Given the description of an element on the screen output the (x, y) to click on. 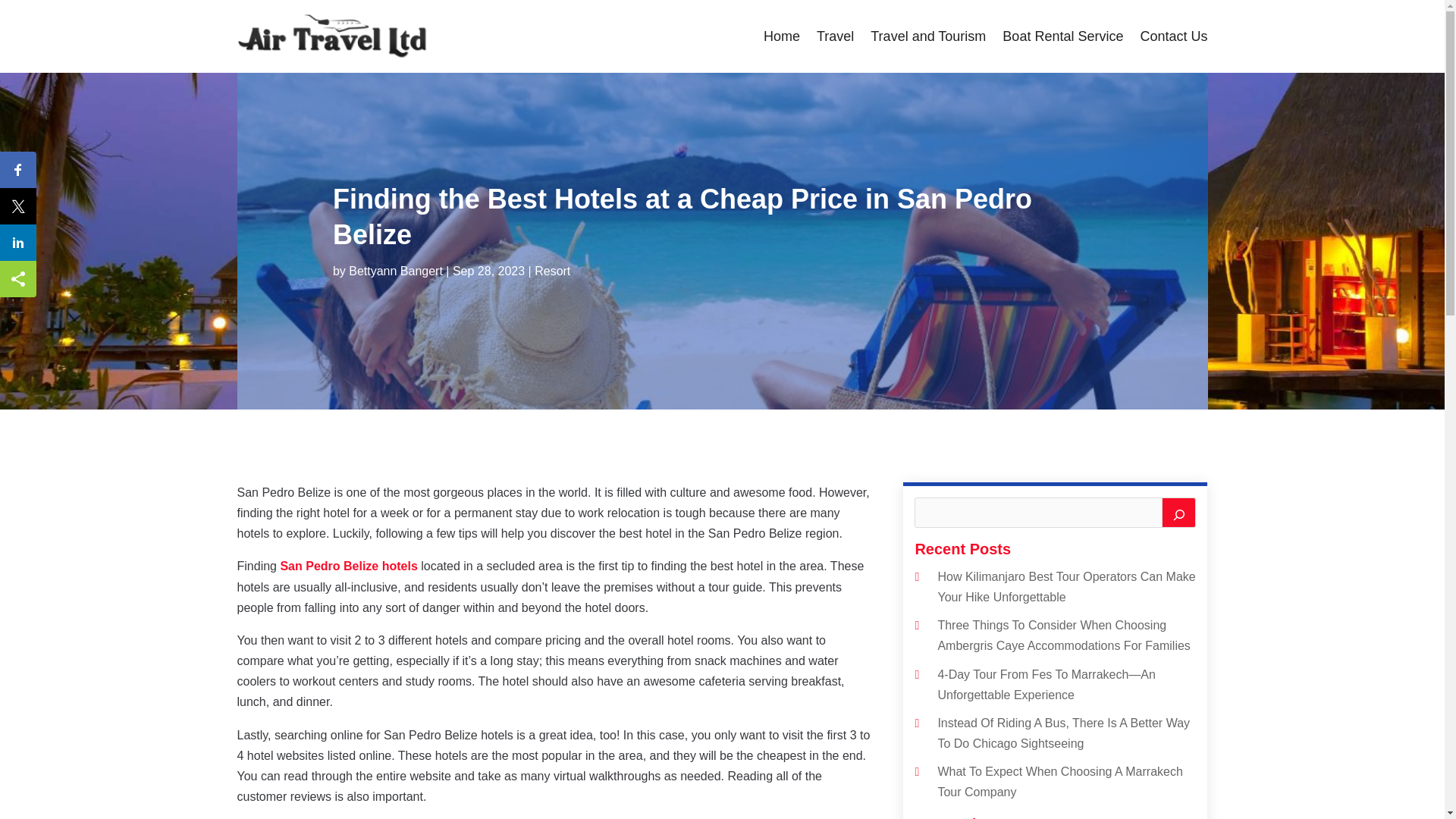
What To Expect When Choosing A Marrakech Tour Company (1059, 781)
Travel and Tourism (927, 36)
Resort (552, 270)
Contact Us (1173, 36)
San Pedro Belize hotels (347, 565)
Bettyann Bangert (395, 270)
Boat Rental Service (1062, 36)
Posts by Bettyann Bangert (395, 270)
